Given the description of an element on the screen output the (x, y) to click on. 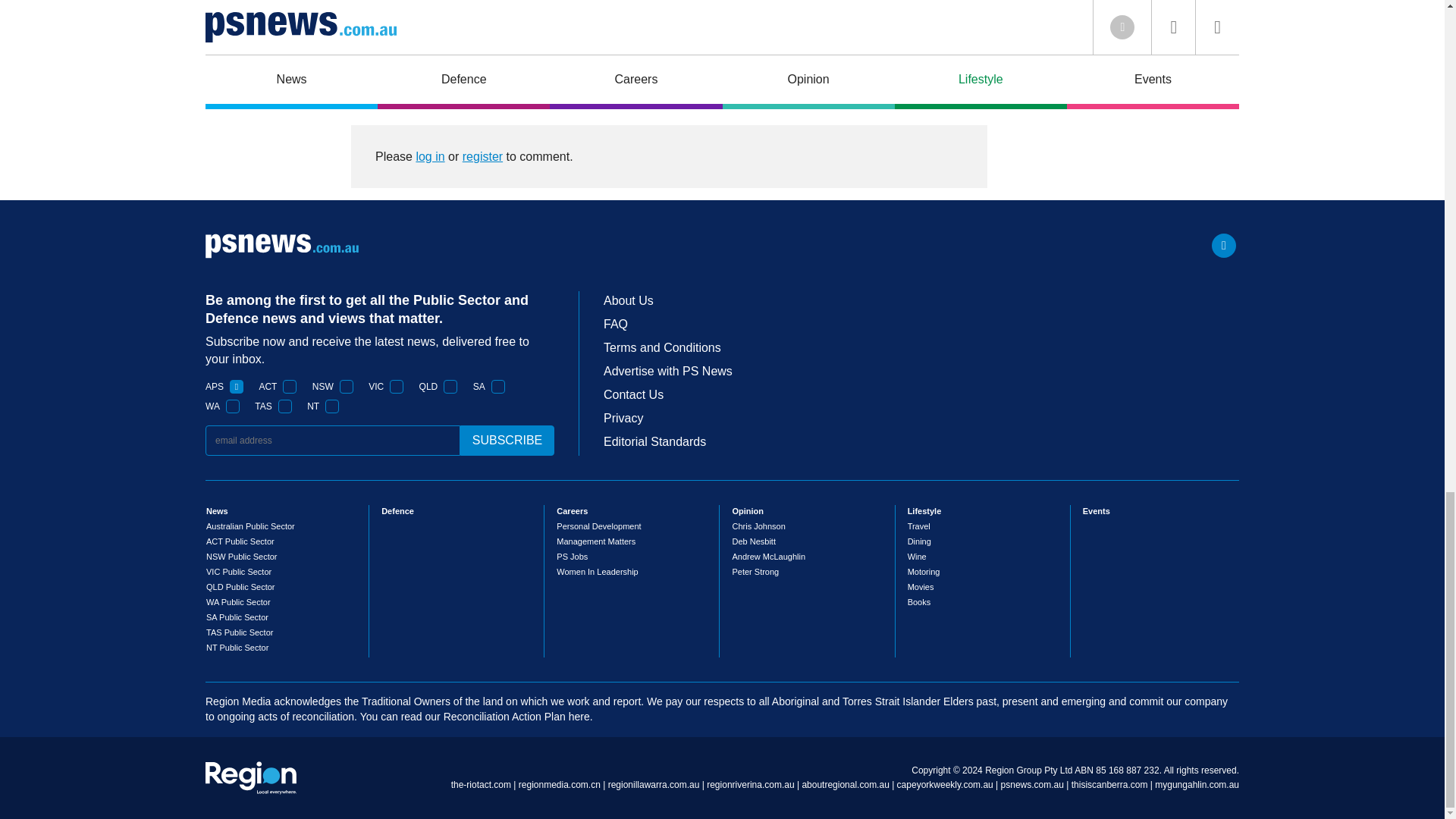
1 (285, 406)
3rd party ad content (668, 23)
1 (232, 406)
LinkedIn (1223, 245)
1 (396, 386)
1 (289, 386)
1 (450, 386)
1 (498, 386)
1 (236, 386)
1 (346, 386)
1 (331, 406)
subscribe (507, 440)
Region - Local everywhere (251, 778)
3rd party ad content (1124, 54)
